Given the description of an element on the screen output the (x, y) to click on. 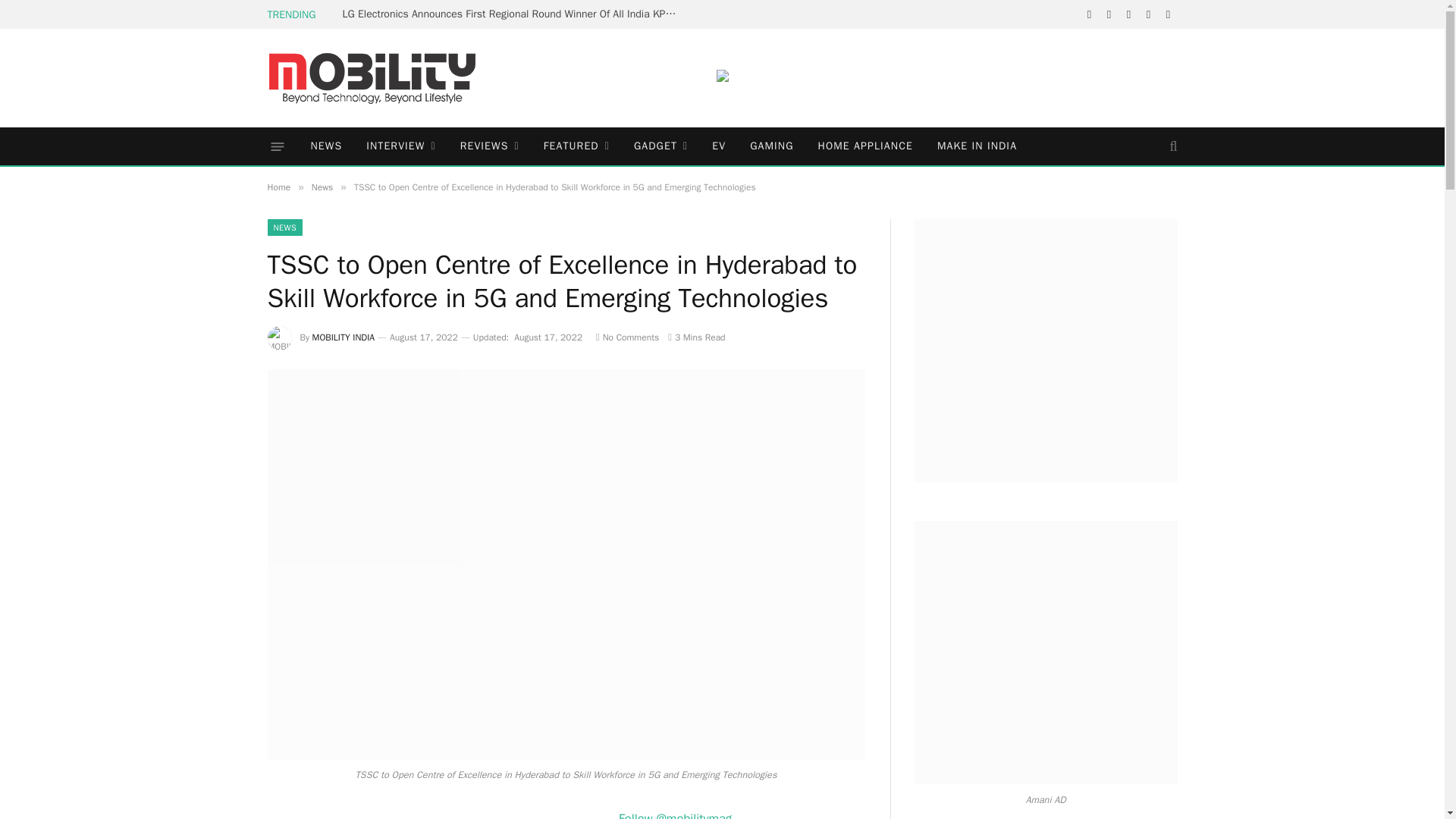
Mobility India (371, 77)
Posts by MOBILITY INDIA (344, 337)
